Given the description of an element on the screen output the (x, y) to click on. 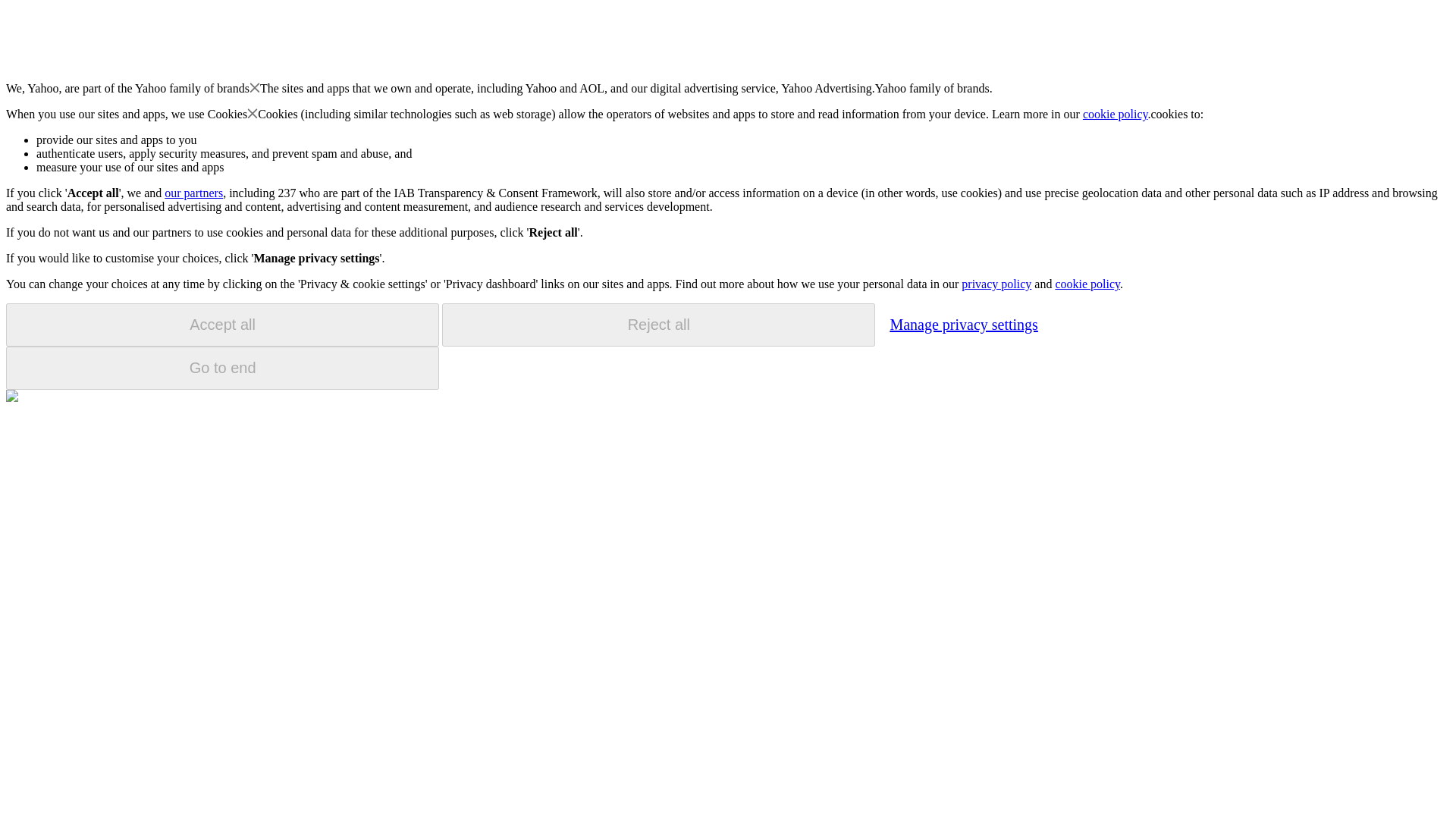
our partners (193, 192)
Manage privacy settings (963, 323)
privacy policy (995, 283)
Go to end (222, 367)
cookie policy (1086, 283)
Reject all (658, 324)
Accept all (222, 324)
cookie policy (1115, 113)
